Given the description of an element on the screen output the (x, y) to click on. 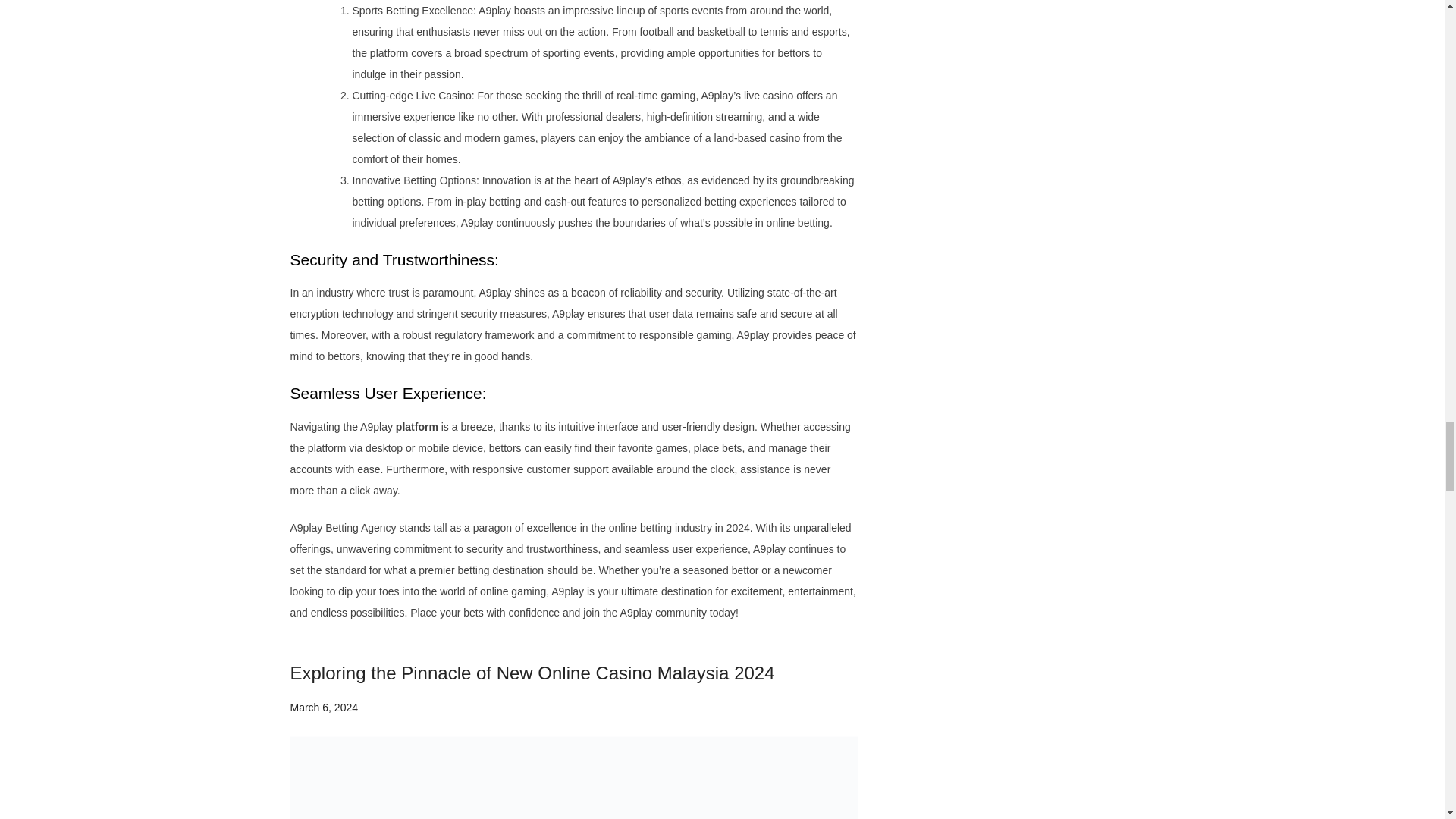
March 6, 2024 (323, 707)
Exploring the Pinnacle of New Online Casino Malaysia 2024 (531, 672)
